Given the description of an element on the screen output the (x, y) to click on. 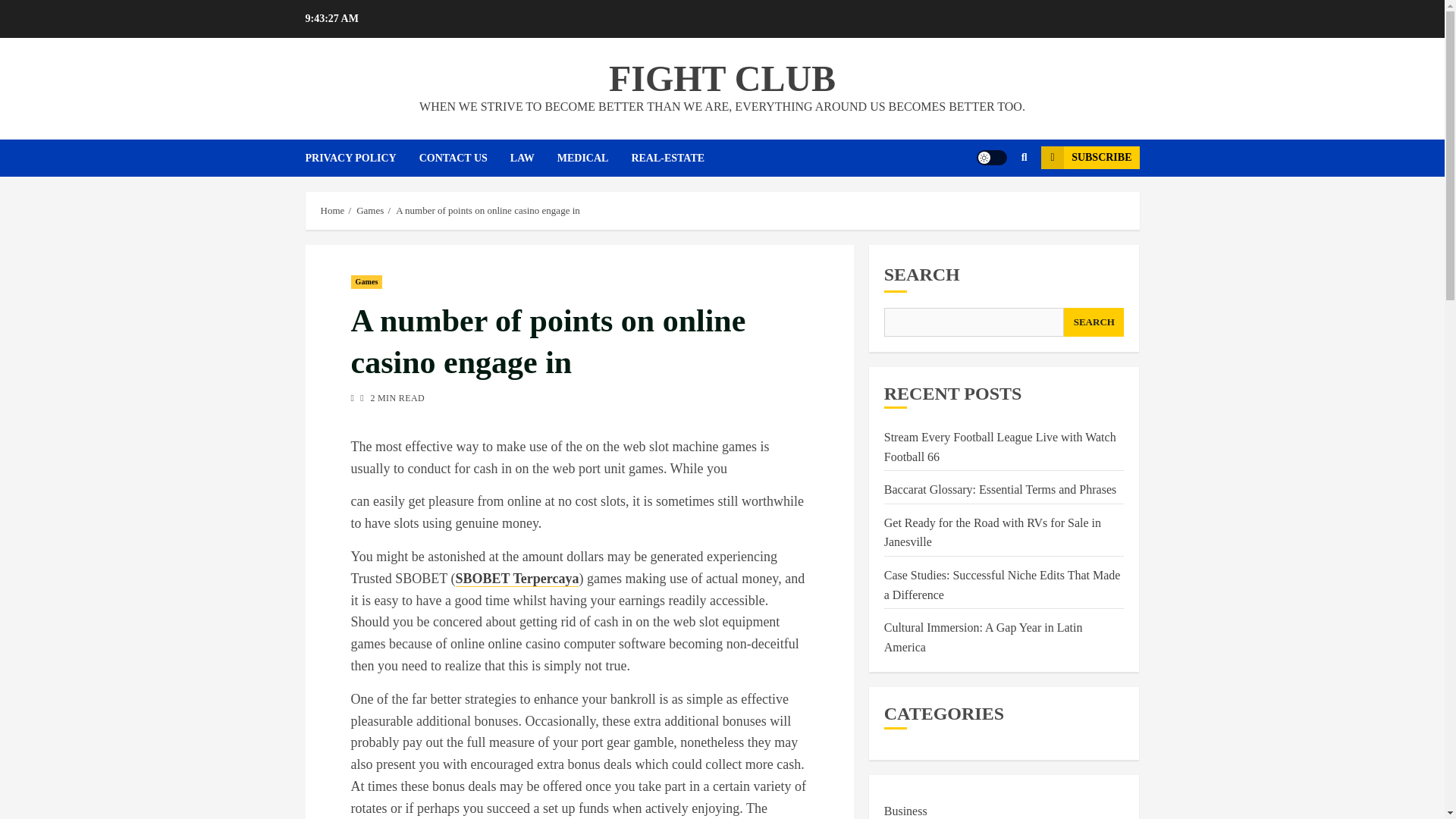
SBOBET Terpercaya (517, 578)
REAL-ESTATE (678, 157)
Business (905, 809)
PRIVACY POLICY (361, 157)
MEDICAL (594, 157)
Games (370, 210)
Search (994, 203)
Get Ready for the Road with RVs for Sale in Janesville (991, 532)
A number of points on online casino engage in (487, 210)
LAW (534, 157)
